Given the description of an element on the screen output the (x, y) to click on. 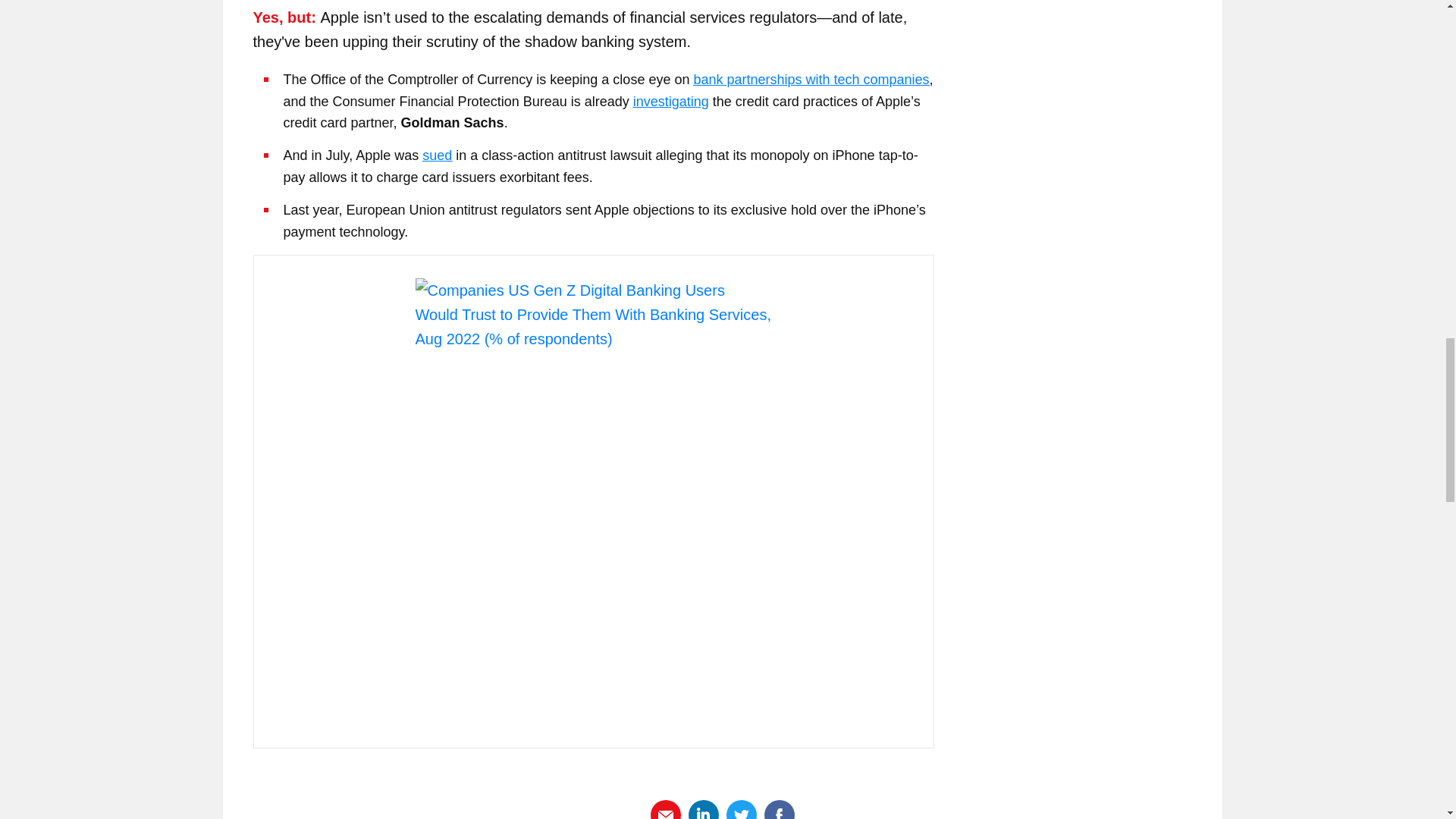
investigating (671, 101)
sued (436, 155)
Share via Email (665, 813)
Share via Facebook (779, 813)
bank partnerships with tech companies (810, 79)
